Given the description of an element on the screen output the (x, y) to click on. 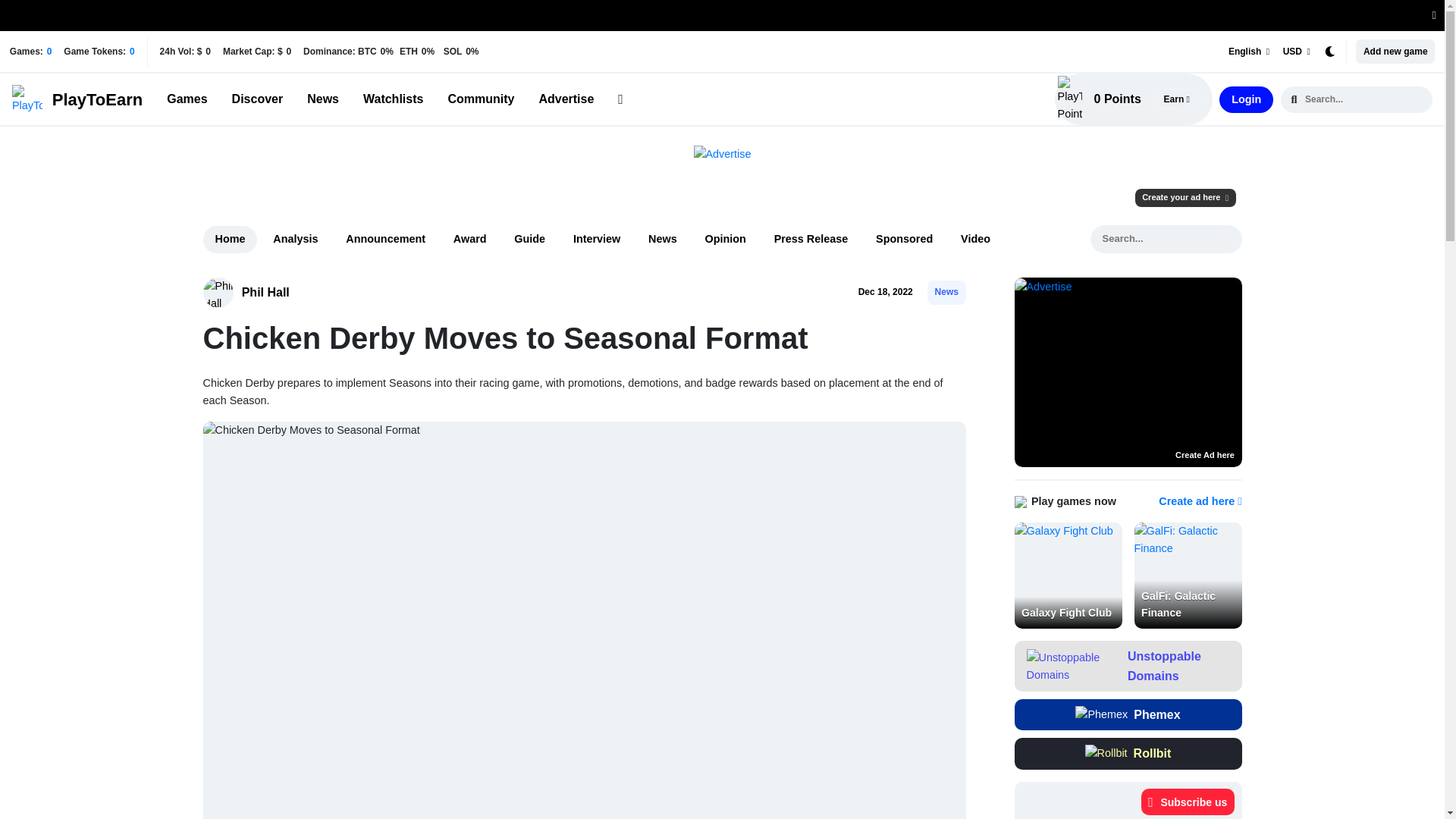
PlayToEarn Community (479, 98)
Add new game (1391, 51)
News (323, 98)
PlayToEarn (76, 99)
PlayToEarn (76, 99)
Watchlists (392, 98)
Add new Game (1391, 51)
Creator (257, 98)
